Given the description of an element on the screen output the (x, y) to click on. 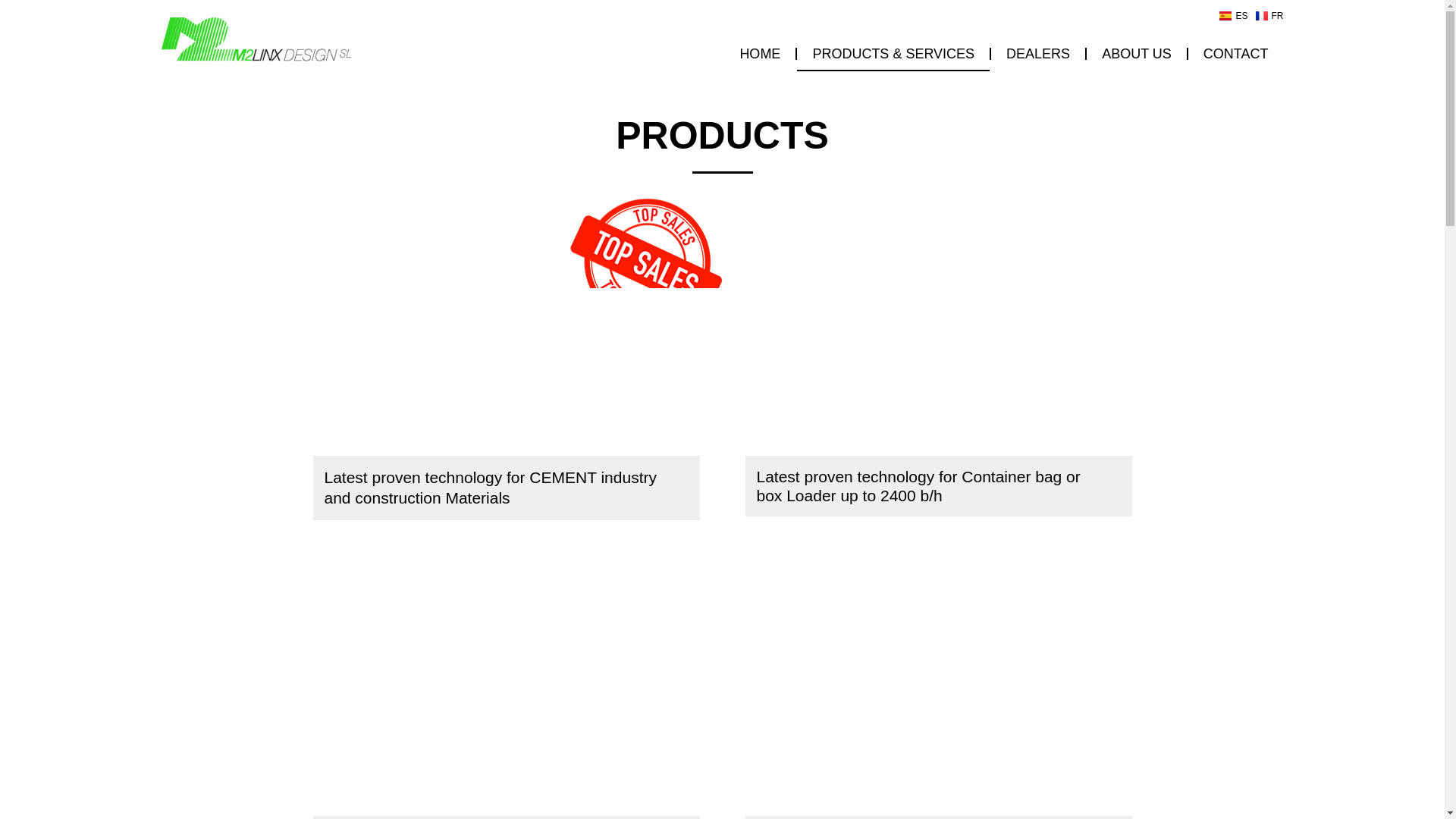
DEALERS (1037, 53)
HOME (758, 53)
ABOUT US (1136, 53)
CONTACT (1236, 53)
FR (1269, 15)
ES (1233, 15)
